Given the description of an element on the screen output the (x, y) to click on. 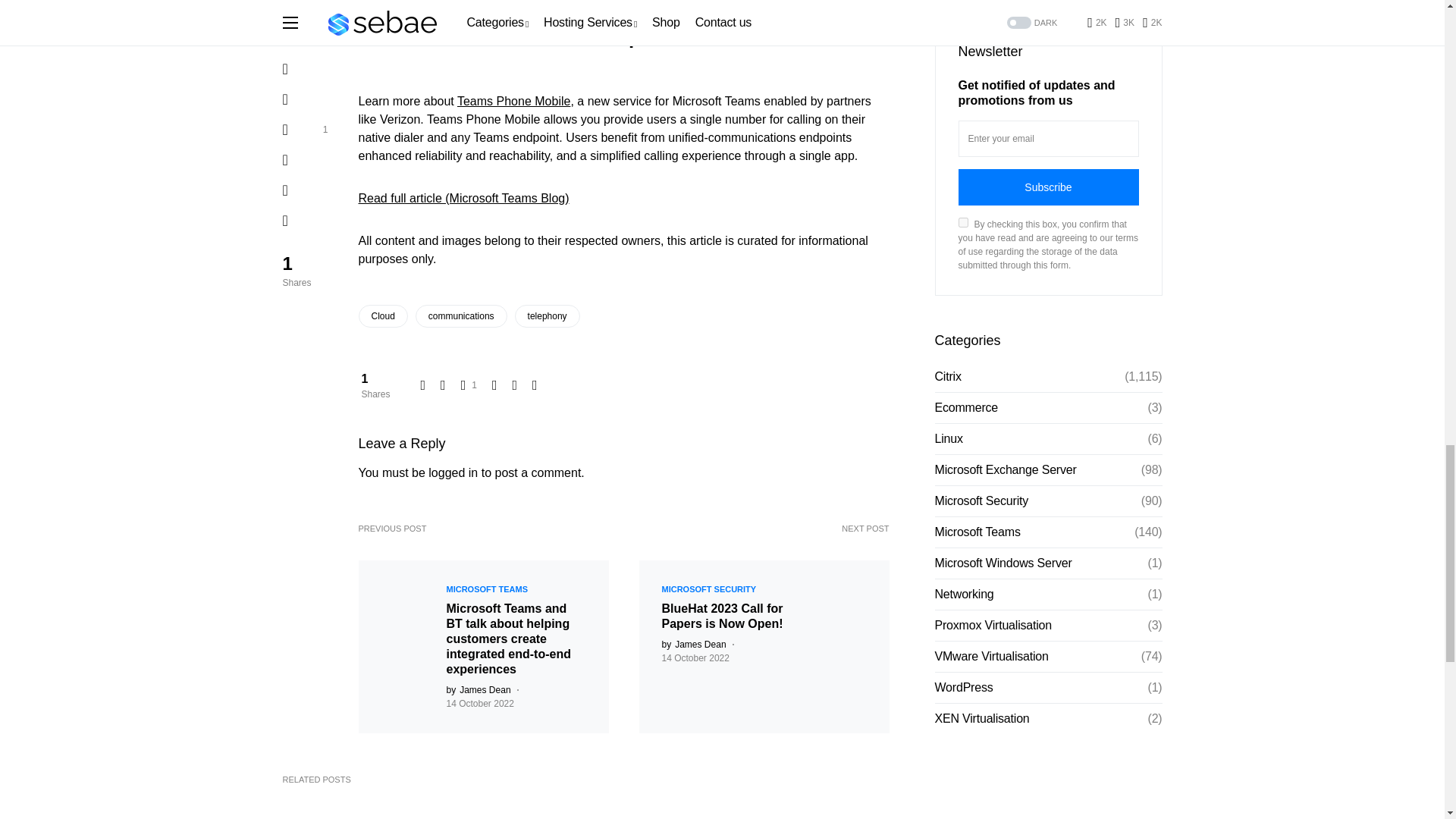
View all posts by James Dean (478, 689)
View all posts by James Dean (693, 644)
